Given the description of an element on the screen output the (x, y) to click on. 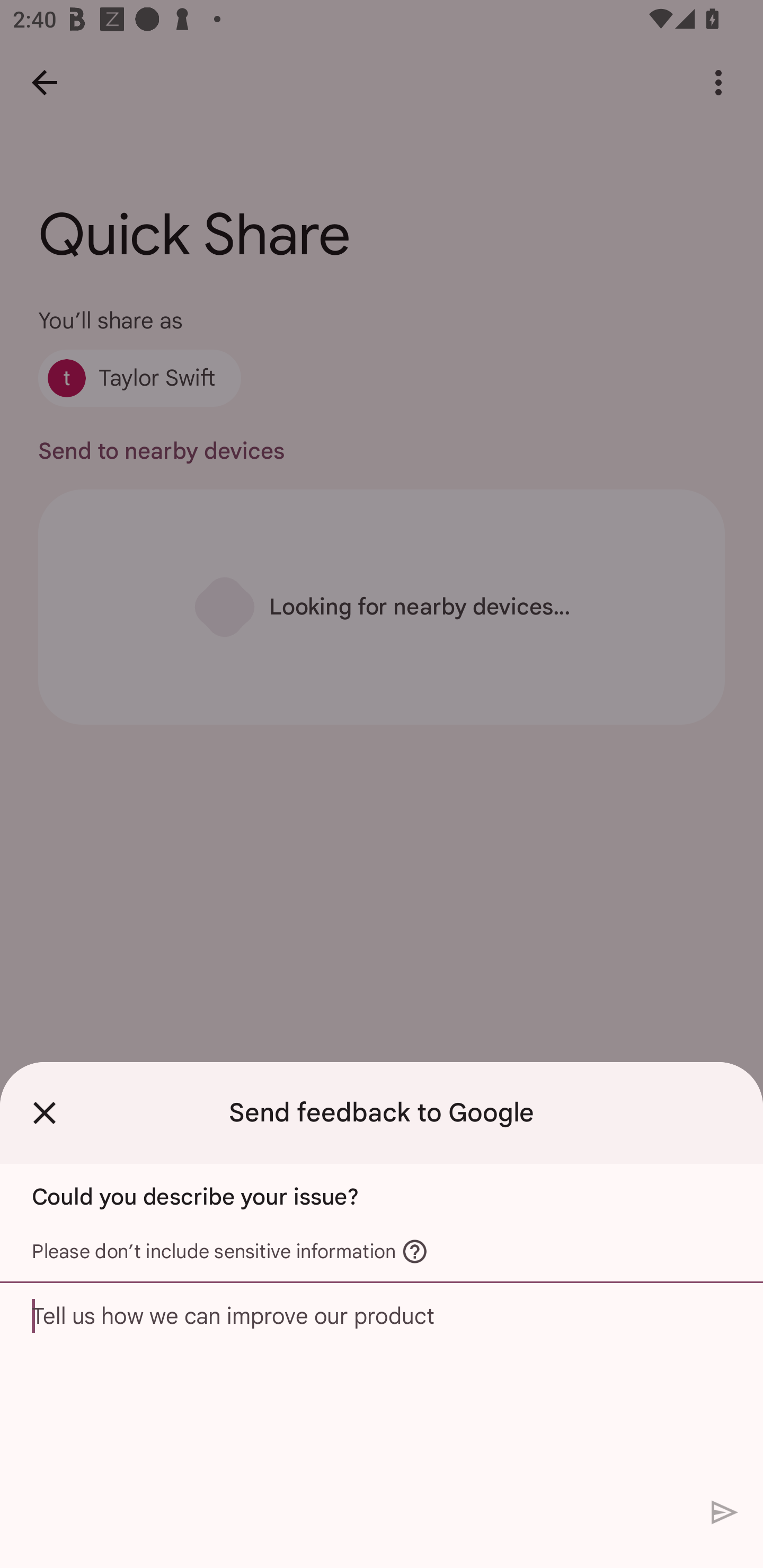
Close Feedback (44, 1112)
Tell us how we can improve our product (381, 1385)
Submit the feedback that you entered (724, 1512)
